Given the description of an element on the screen output the (x, y) to click on. 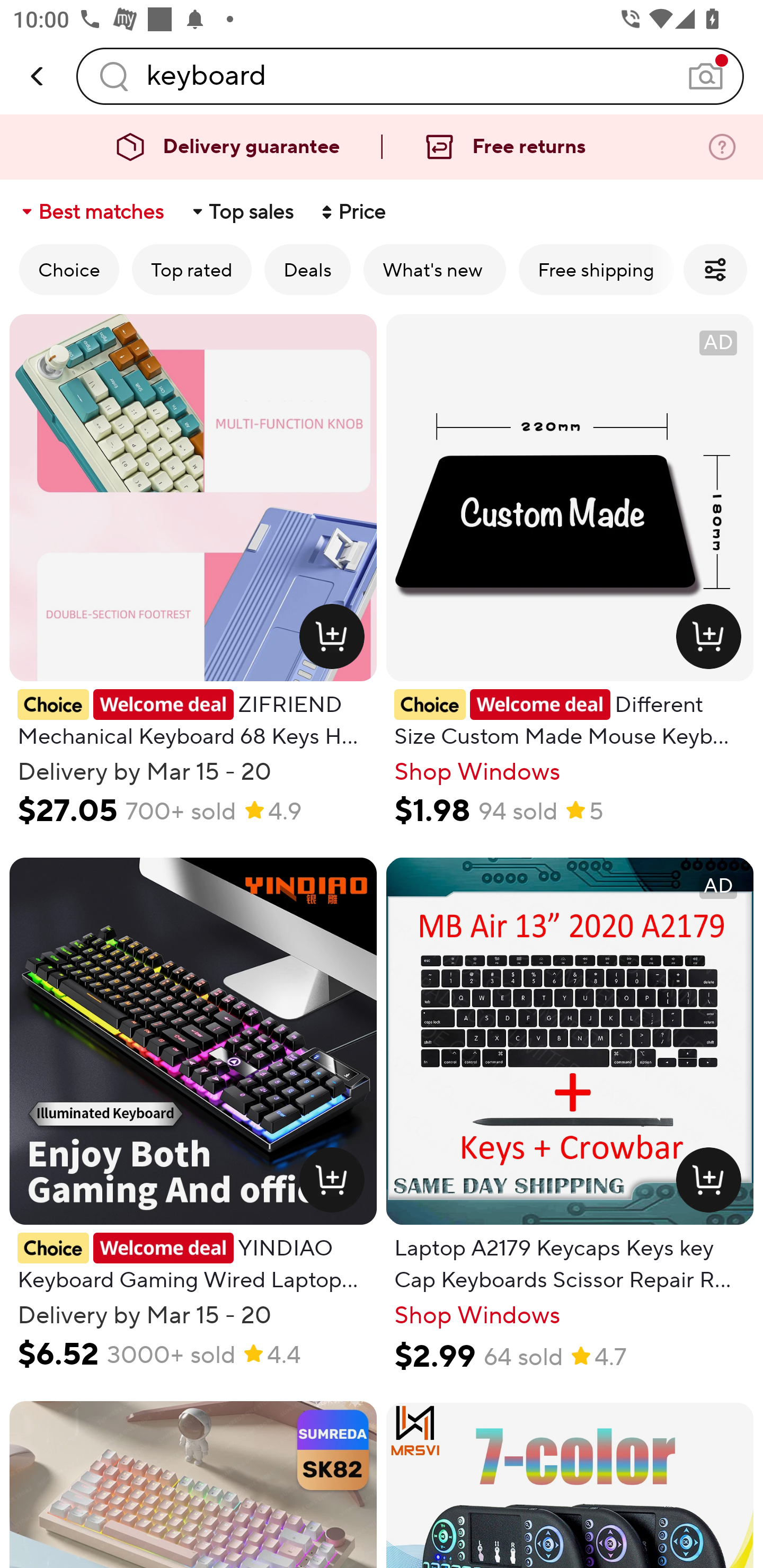
back (38, 75)
keyboard Search query (409, 76)
keyboard Search query (409, 76)
Best matches (91, 212)
Top sales (241, 212)
Price (352, 212)
Choice (69, 269)
Top rated (191, 269)
Deals (307, 269)
What's new  (434, 269)
Free shipping (595, 269)
